Given the description of an element on the screen output the (x, y) to click on. 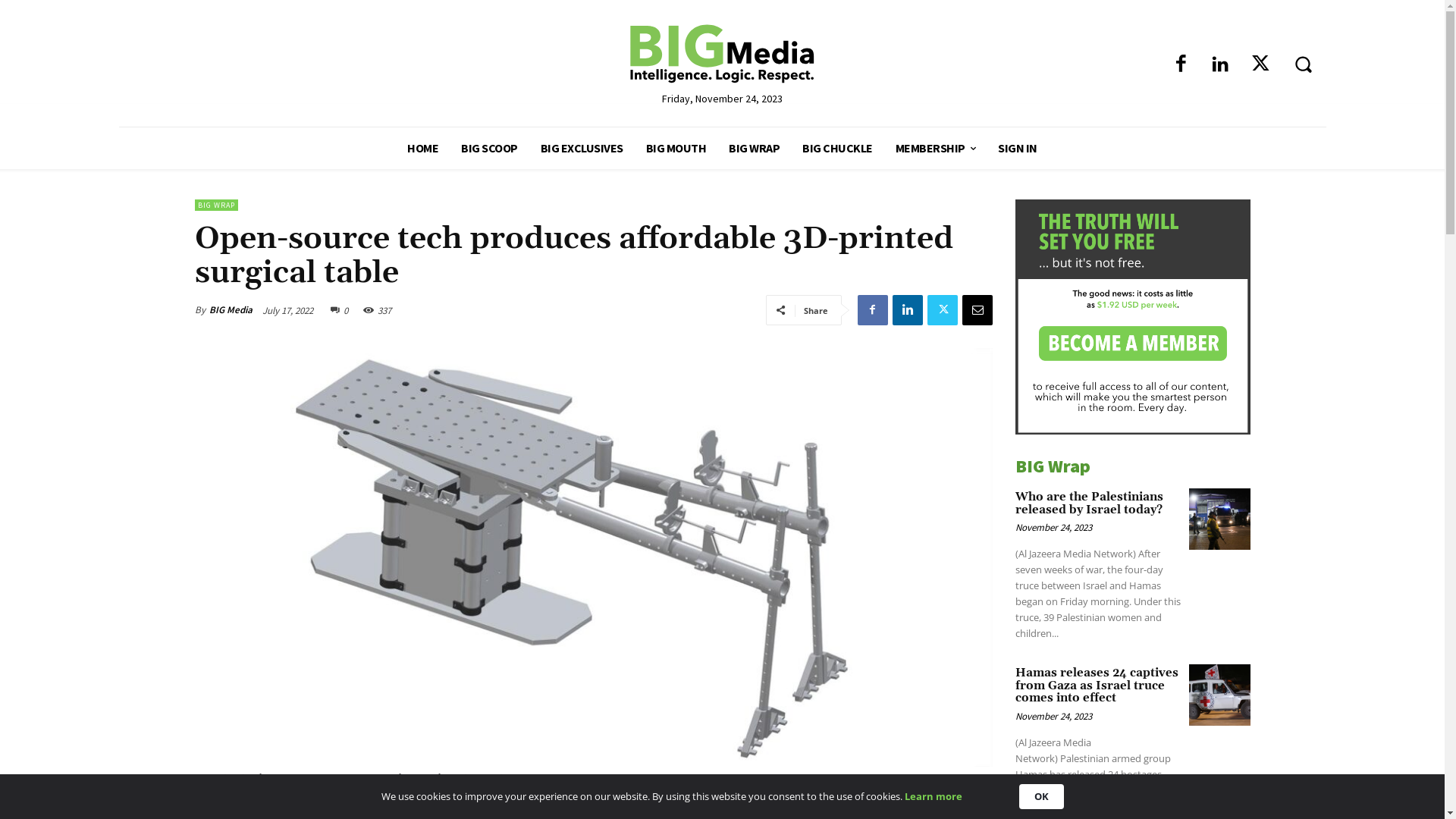
BIG SCOOP Element type: text (489, 148)
0 Element type: text (339, 309)
Linkedin Element type: hover (1220, 65)
Linkedin Element type: hover (906, 309)
Facebook Element type: hover (1180, 65)
Who are the Palestinians released by Israel today? Element type: text (1088, 503)
BIG CHUCKLE Element type: text (837, 148)
SIGN IN Element type: text (1017, 148)
Learn more Element type: text (932, 796)
Facebook Element type: hover (871, 309)
open-source-tech-enabl Element type: hover (592, 557)
MEMBERSHIP Element type: text (935, 148)
BIG EXCLUSIVES Element type: text (581, 148)
BIG Media Element type: text (230, 309)
HOME Element type: text (422, 148)
BIG WRAP Element type: text (215, 204)
Twitter Element type: hover (941, 309)
Who are the Palestinians released by Israel today? Element type: hover (1219, 518)
Twitter Element type: hover (1260, 65)
BIG WRAP Element type: text (753, 148)
Email Element type: hover (976, 309)
BIG MOUTH Element type: text (676, 148)
